Given the description of an element on the screen output the (x, y) to click on. 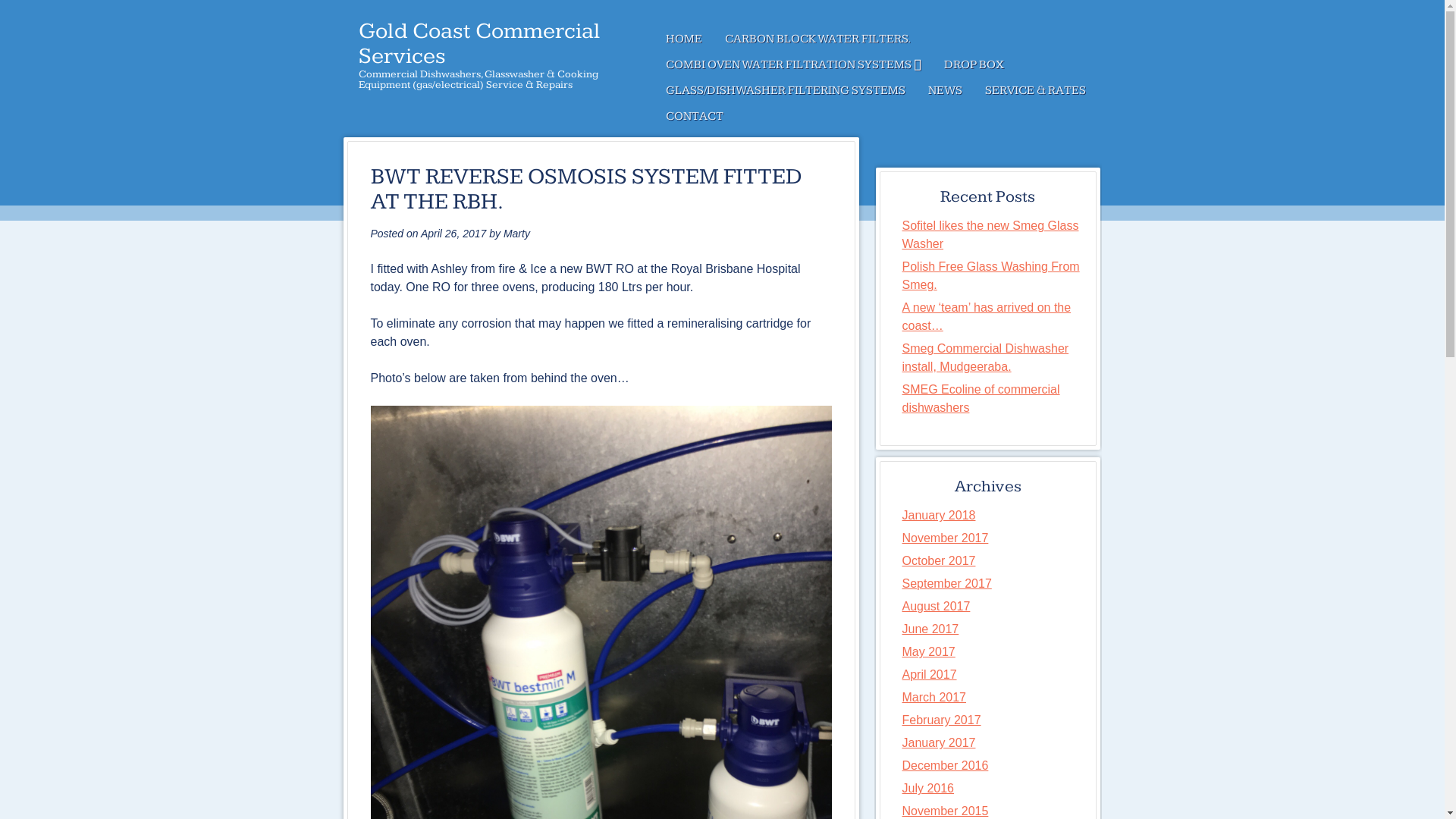
January 2017 Element type: text (938, 742)
October 2017 Element type: text (938, 560)
June 2017 Element type: text (930, 628)
November 2017 Element type: text (945, 537)
COMBI OVEN WATER FILTRATION SYSTEMS Element type: text (792, 65)
SKIP TO CONTENT Element type: text (715, 39)
January 2018 Element type: text (938, 514)
HOME Element type: text (682, 39)
July 2016 Element type: text (928, 787)
May 2017 Element type: text (928, 651)
CONTACT Element type: text (693, 116)
August 2017 Element type: text (936, 605)
April 26, 2017 Element type: text (453, 233)
SMEG Ecoline of commercial dishwashers Element type: text (981, 398)
CARBON BLOCK WATER FILTERS. Element type: text (816, 39)
Marty Element type: text (516, 233)
NEWS Element type: text (944, 90)
GLASS/DISHWASHER FILTERING SYSTEMS Element type: text (784, 90)
Polish Free Glass Washing From Smeg. Element type: text (990, 275)
SERVICE & RATES Element type: text (1035, 90)
April 2017 Element type: text (929, 674)
March 2017 Element type: text (934, 696)
September 2017 Element type: text (946, 583)
November 2015 Element type: text (945, 810)
February 2017 Element type: text (941, 719)
Sofitel likes the new Smeg Glass Washer Element type: text (990, 234)
December 2016 Element type: text (945, 765)
Smeg Commercial Dishwasher install, Mudgeeraba. Element type: text (985, 357)
Gold Coast Commercial Services Element type: text (478, 43)
DROP BOX Element type: text (973, 65)
